Given the description of an element on the screen output the (x, y) to click on. 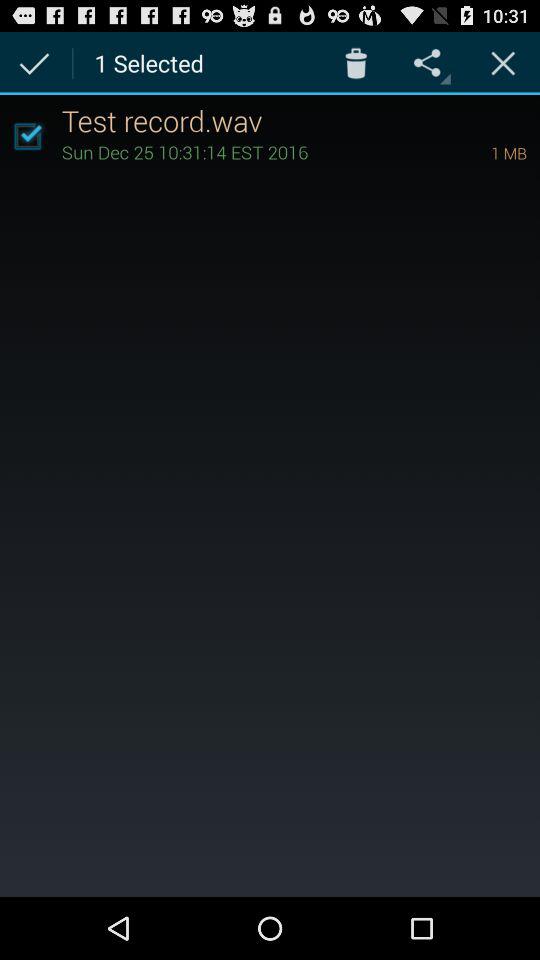
close query (503, 62)
